Given the description of an element on the screen output the (x, y) to click on. 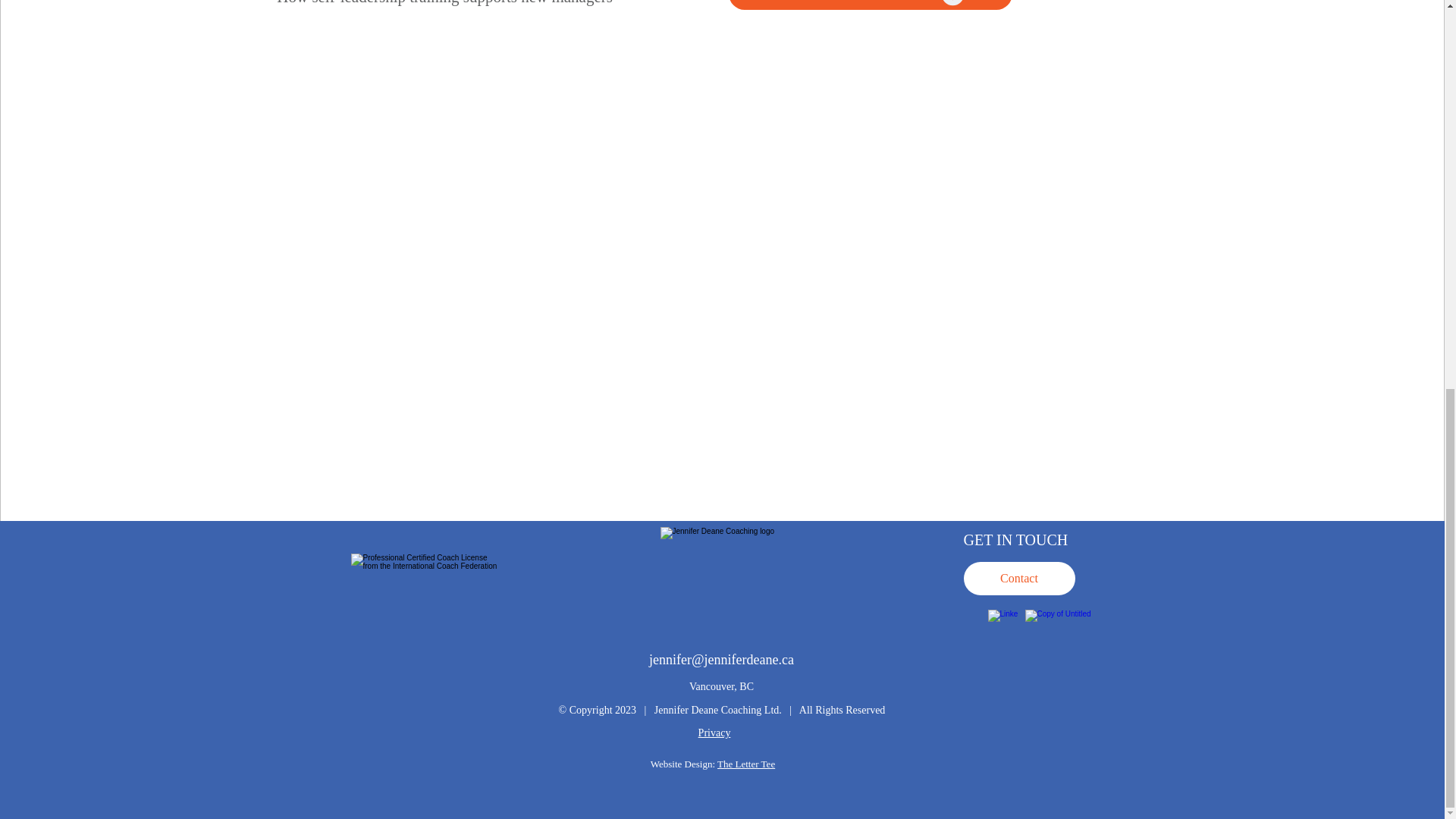
The Letter Tee (745, 763)
DOWNLOAD NOW (869, 4)
Privacy (714, 732)
Contact (1018, 578)
